Given the description of an element on the screen output the (x, y) to click on. 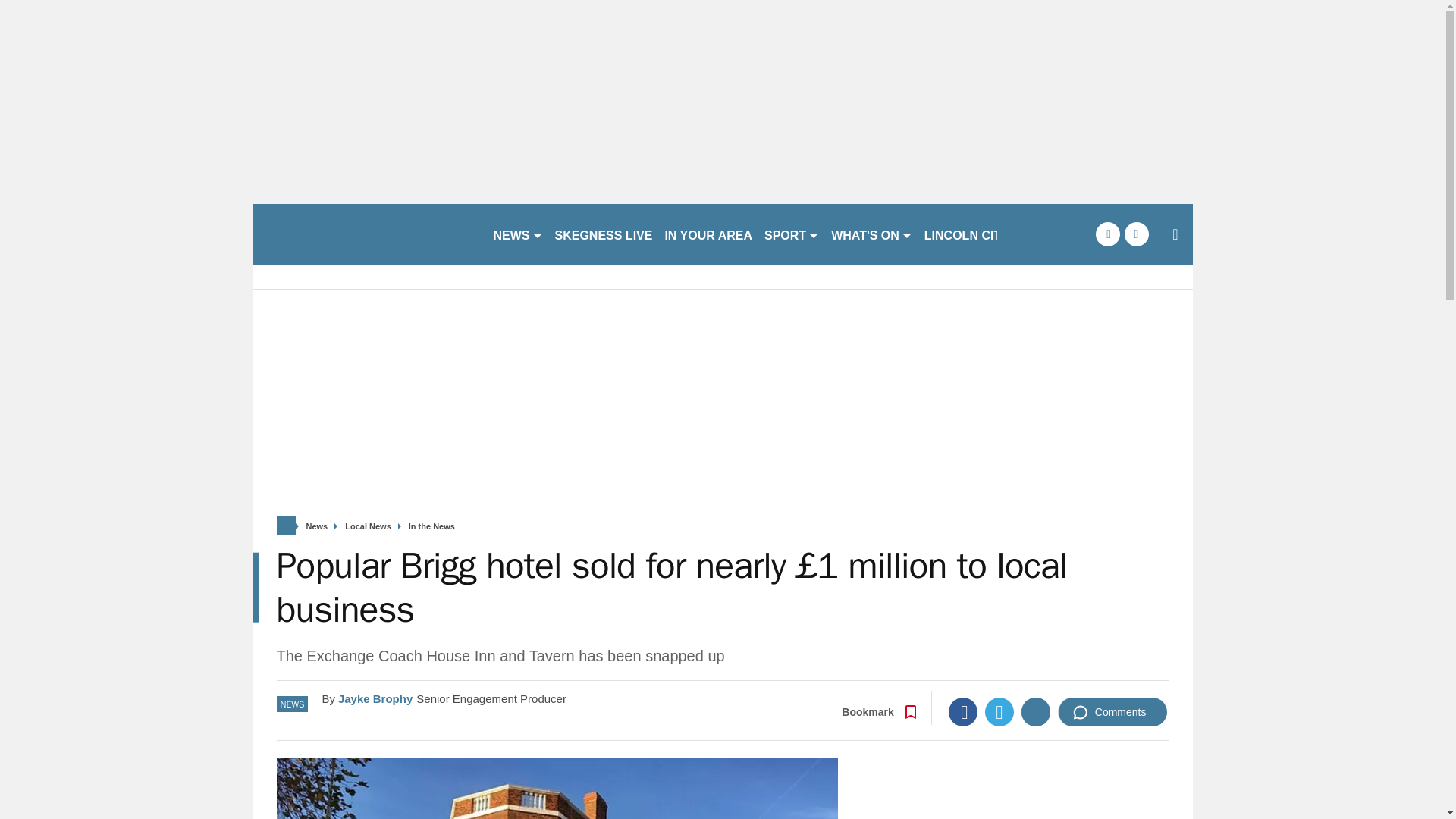
lincolnshirelive (365, 233)
SPORT (791, 233)
WHAT'S ON (871, 233)
IN YOUR AREA (708, 233)
NEWS (517, 233)
twitter (1136, 233)
Comments (1112, 711)
LINCOLN CITY FC (975, 233)
Facebook (962, 711)
SKEGNESS LIVE (603, 233)
